Given the description of an element on the screen output the (x, y) to click on. 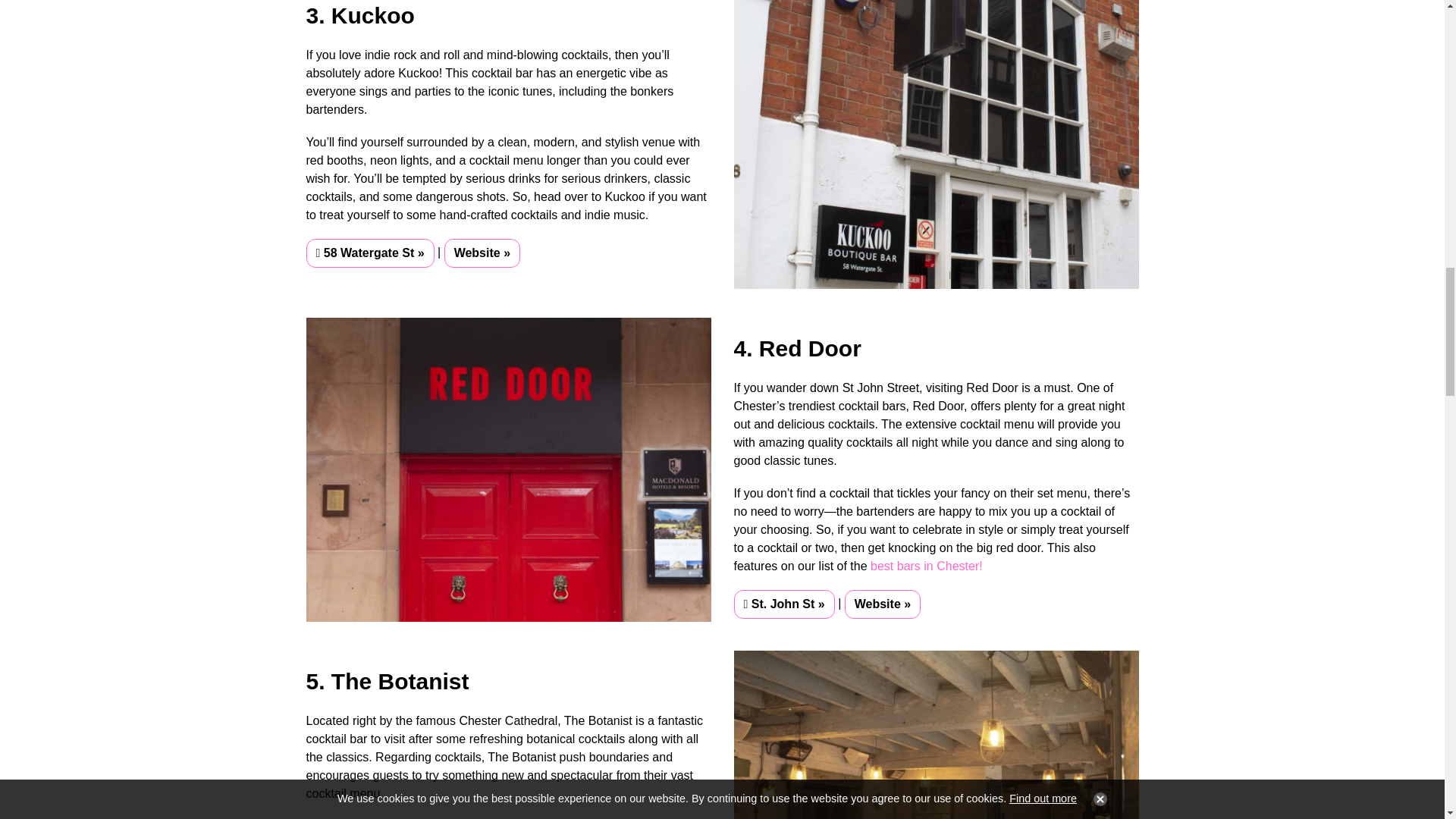
View in Google Maps (369, 253)
Red Door - Cocktail Bars in Chester (508, 469)
Kuckoo Chester (481, 253)
Best Bars in Chester (926, 565)
Kuckoo - Cocktail Bars in Chester (935, 144)
